Given the description of an element on the screen output the (x, y) to click on. 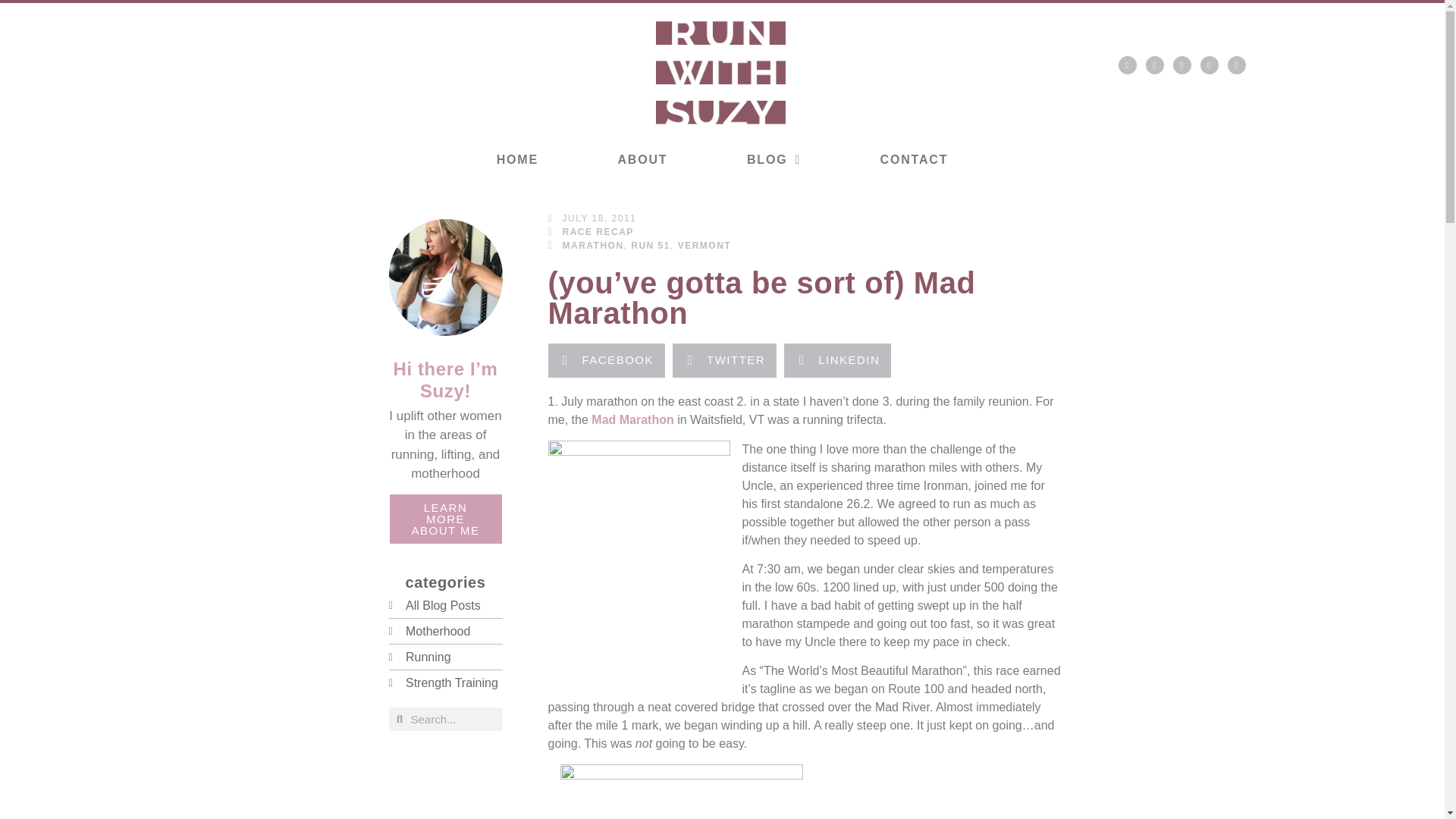
All Blog Posts (445, 606)
CONTACT (913, 159)
BLOG (774, 159)
HOME (517, 159)
Motherhood (445, 631)
Strength Training (445, 683)
ABOUT (642, 159)
LEARN MORE ABOUT ME (445, 518)
Running (445, 657)
